Given the description of an element on the screen output the (x, y) to click on. 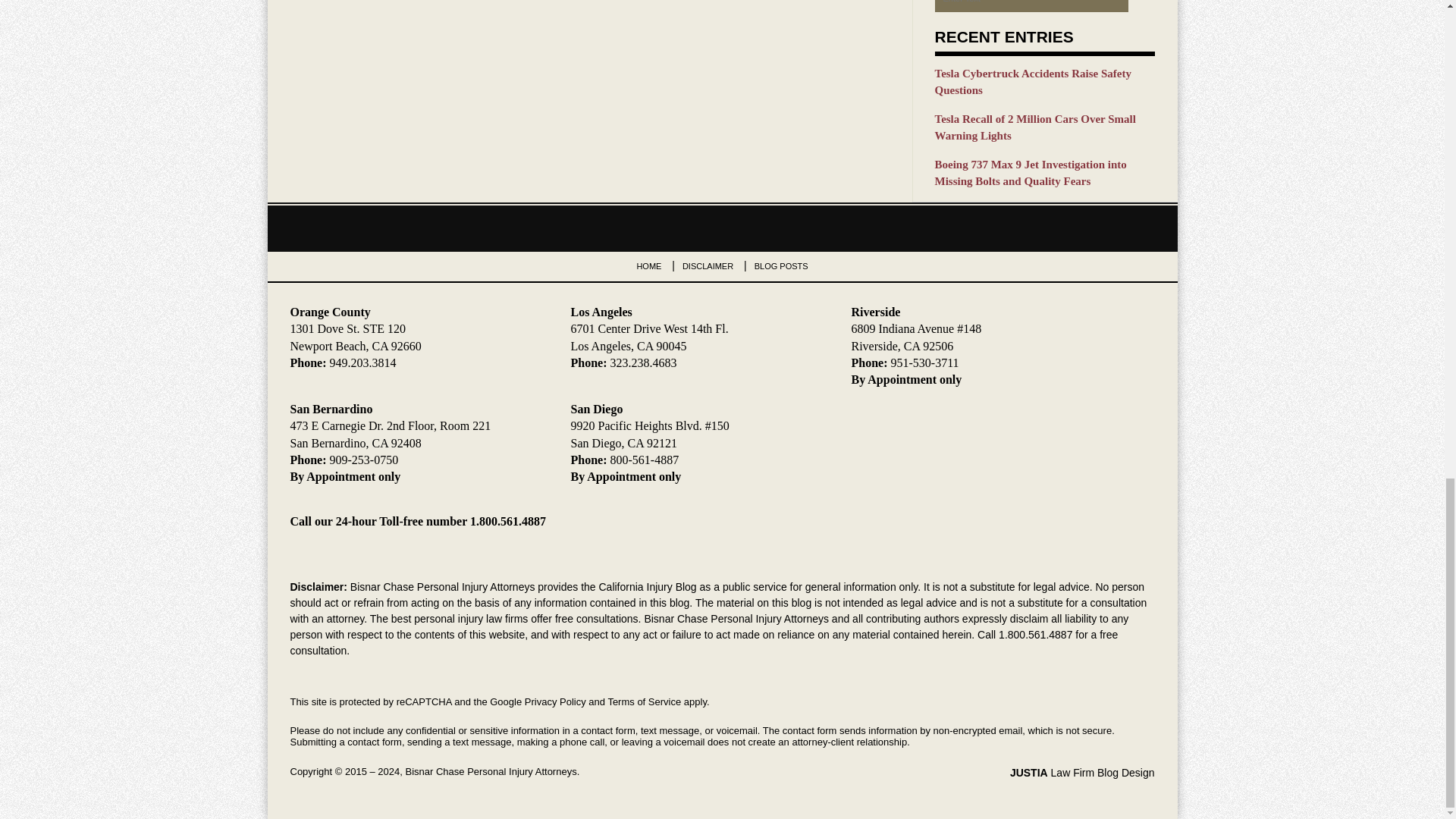
Tesla Recall of 2 Million Cars Over Small Warning Lights (1044, 127)
DISCLAIMER (708, 265)
Tesla Cybertruck Accidents Raise Safety Questions (1044, 82)
SEARCH (1141, 6)
BLOG POSTS (780, 265)
Privacy Policy (555, 701)
HOME (648, 265)
